Given the description of an element on the screen output the (x, y) to click on. 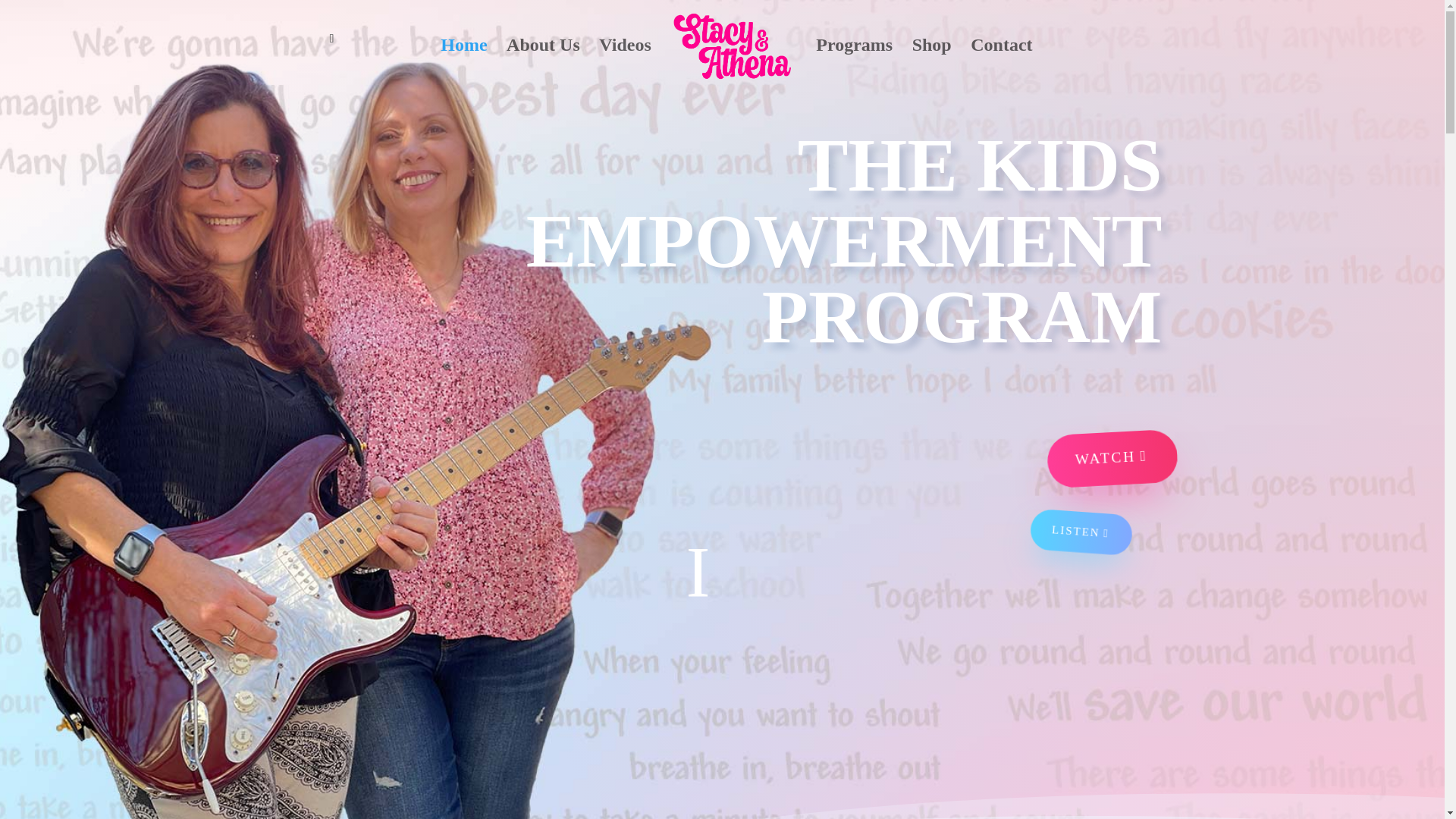
Home (463, 61)
Contact (1001, 61)
Videos (624, 61)
Programs (853, 61)
LISTEN (1080, 527)
About Us (542, 61)
WATCH (1095, 449)
